Given the description of an element on the screen output the (x, y) to click on. 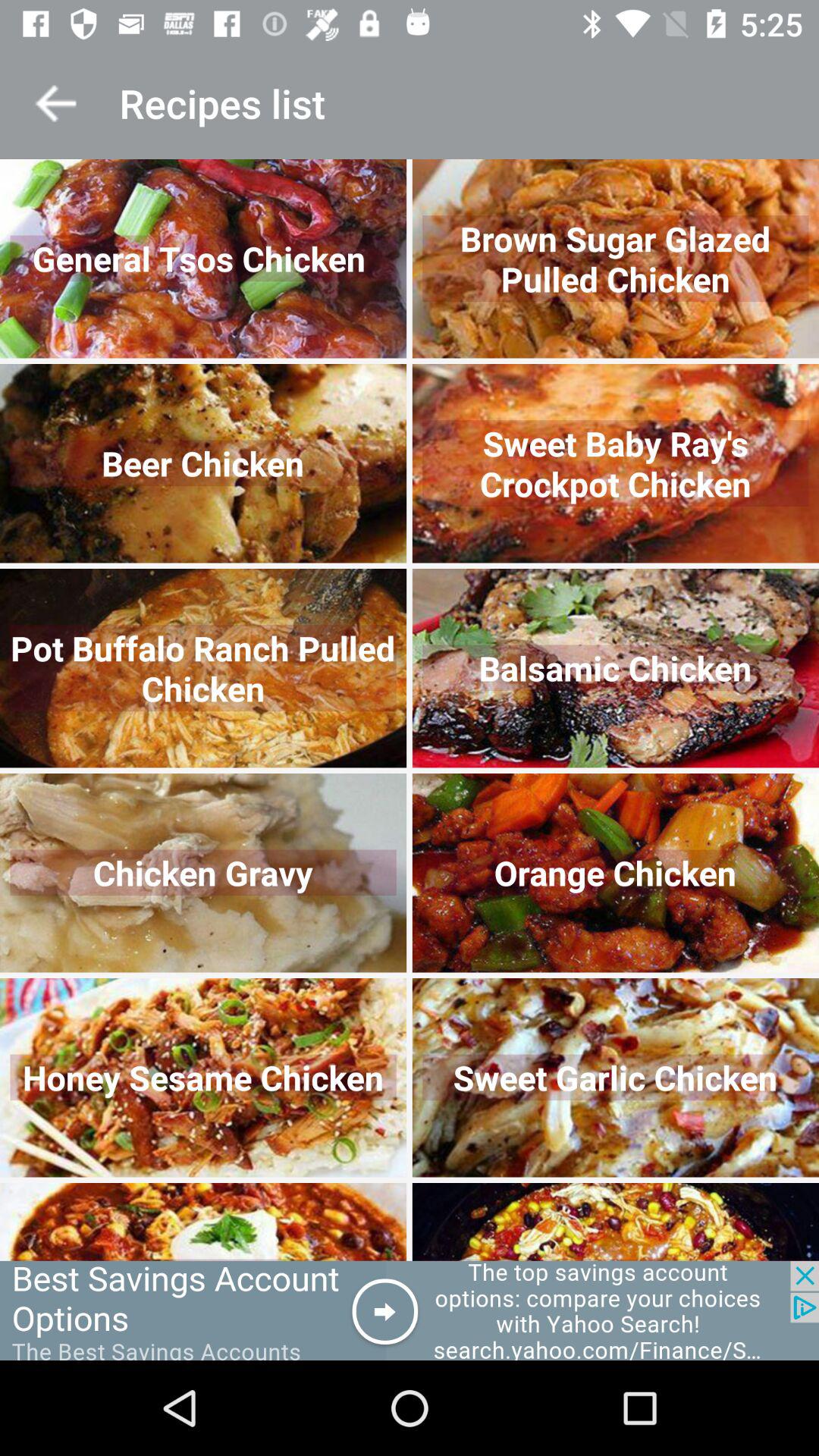
go back (55, 103)
